Given the description of an element on the screen output the (x, y) to click on. 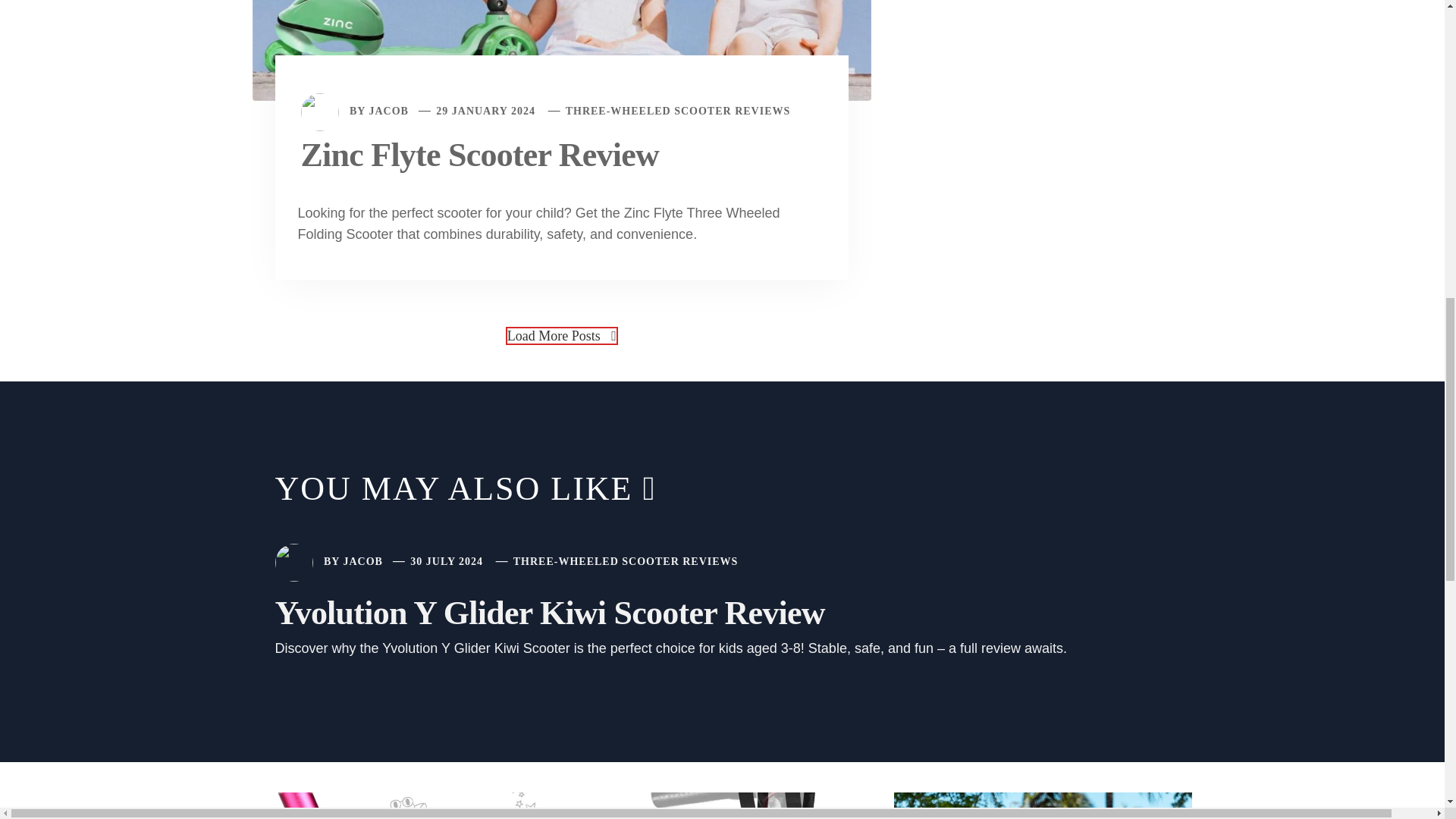
29 JANUARY 2024 (485, 111)
JACOB (387, 111)
THREE-WHEELED SCOOTER REVIEWS (625, 561)
Load More Posts (561, 335)
30 JULY 2024 (446, 561)
Yvolution Y Glider Kiwi Scooter Review (549, 612)
THREE-WHEELED SCOOTER REVIEWS (678, 111)
Zinc Flyte Scooter Review (479, 154)
JACOB (361, 561)
